Given the description of an element on the screen output the (x, y) to click on. 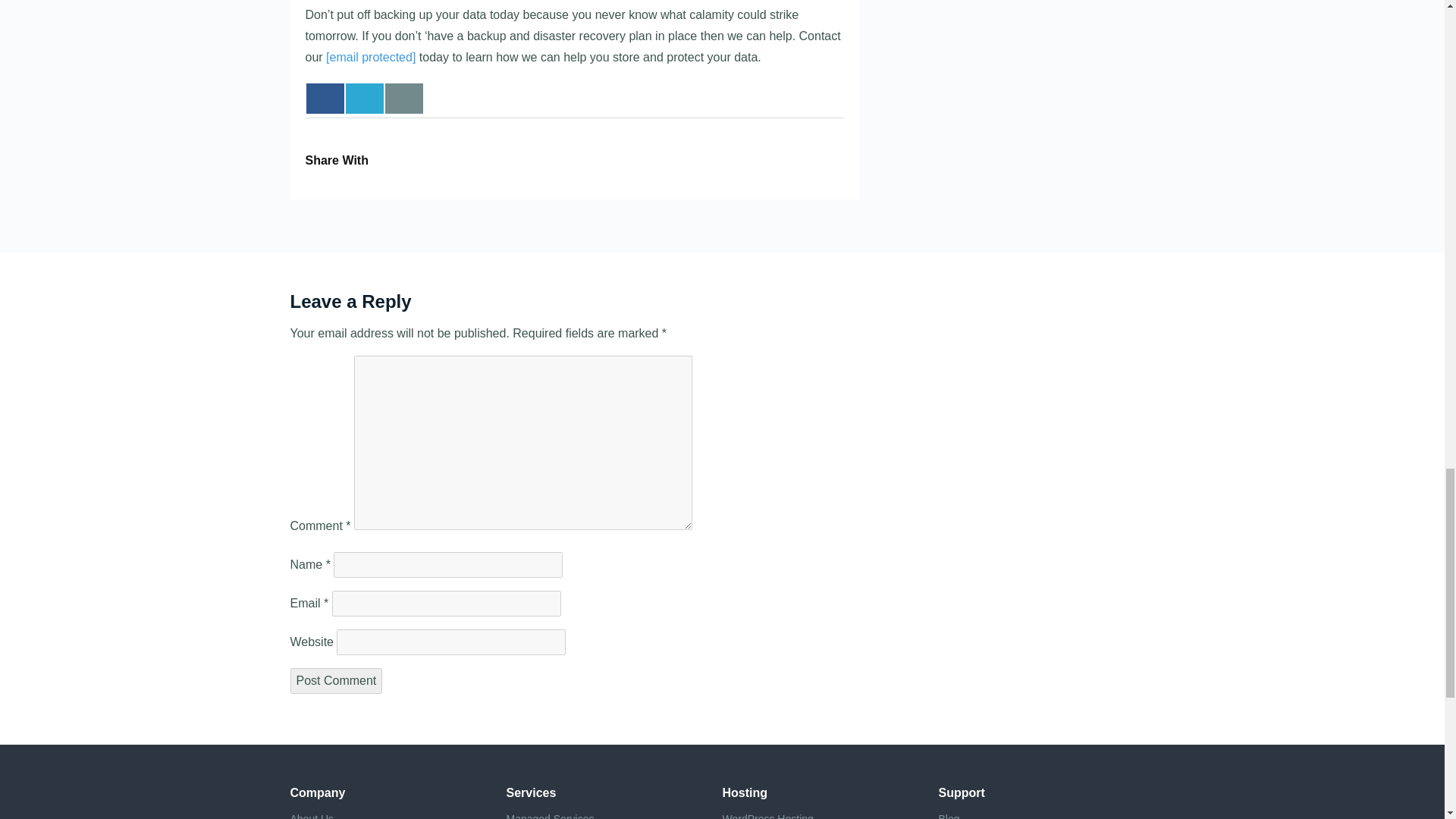
JaguarPC Sales and Help (370, 56)
Contact us (404, 98)
Post Comment (335, 680)
Share On Twitter (365, 98)
Share On Facebook (324, 98)
